Given the description of an element on the screen output the (x, y) to click on. 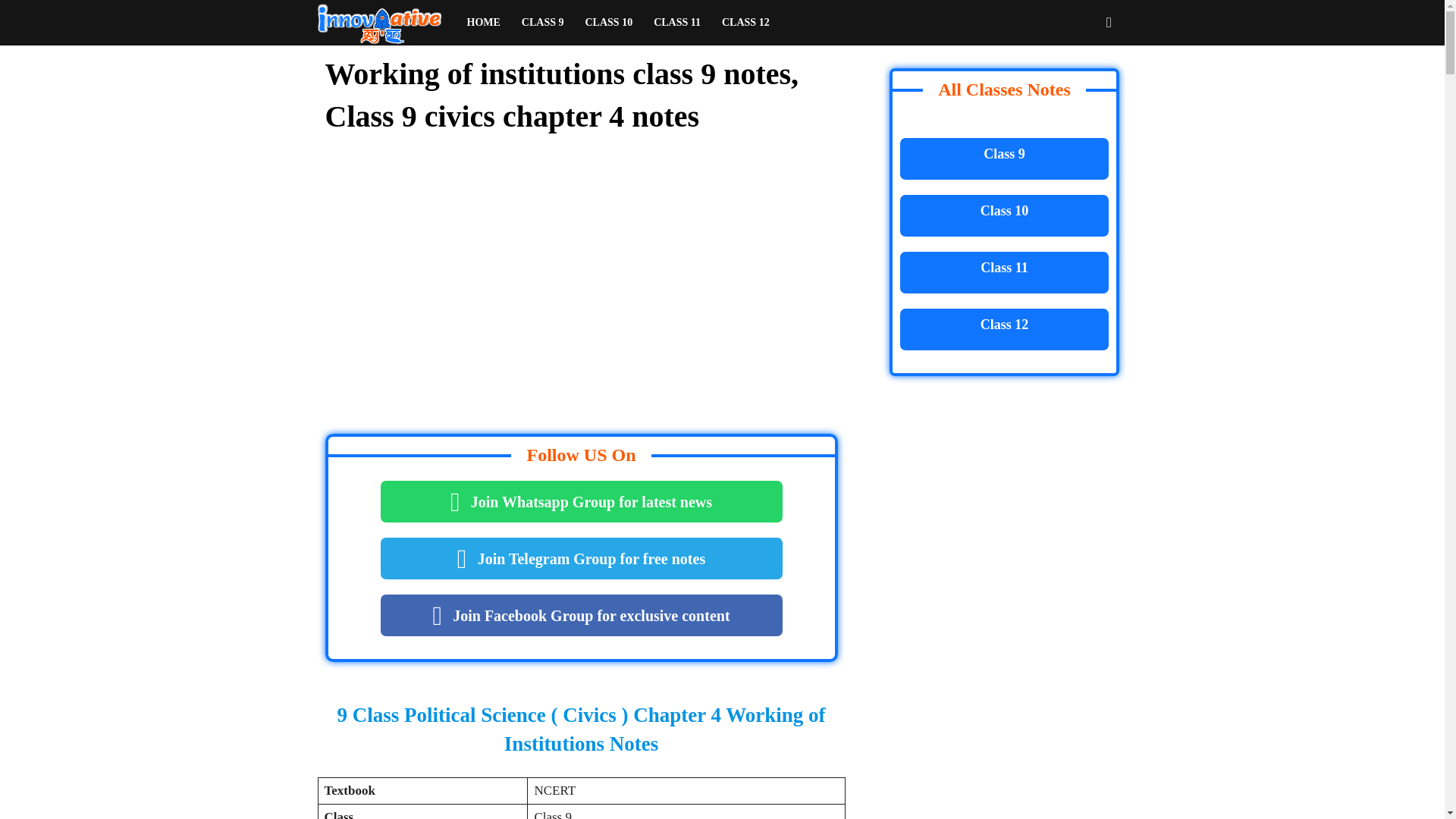
CLASS 9 (543, 22)
Search (1085, 87)
Class 10 (1003, 215)
CLASS 10 (609, 22)
Class 9 (1003, 158)
CLASS 12 (745, 22)
Join Facebook Group for exclusive content (581, 615)
HOME (484, 22)
Class 10 (1003, 215)
Join Telegram Group for free notes (581, 558)
Join Telegram Group for free notes (581, 558)
Join Facebook Group for exclusive content (581, 615)
Class 9 (1003, 158)
Class 11 (1003, 272)
CLASS 11 (677, 22)
